Given the description of an element on the screen output the (x, y) to click on. 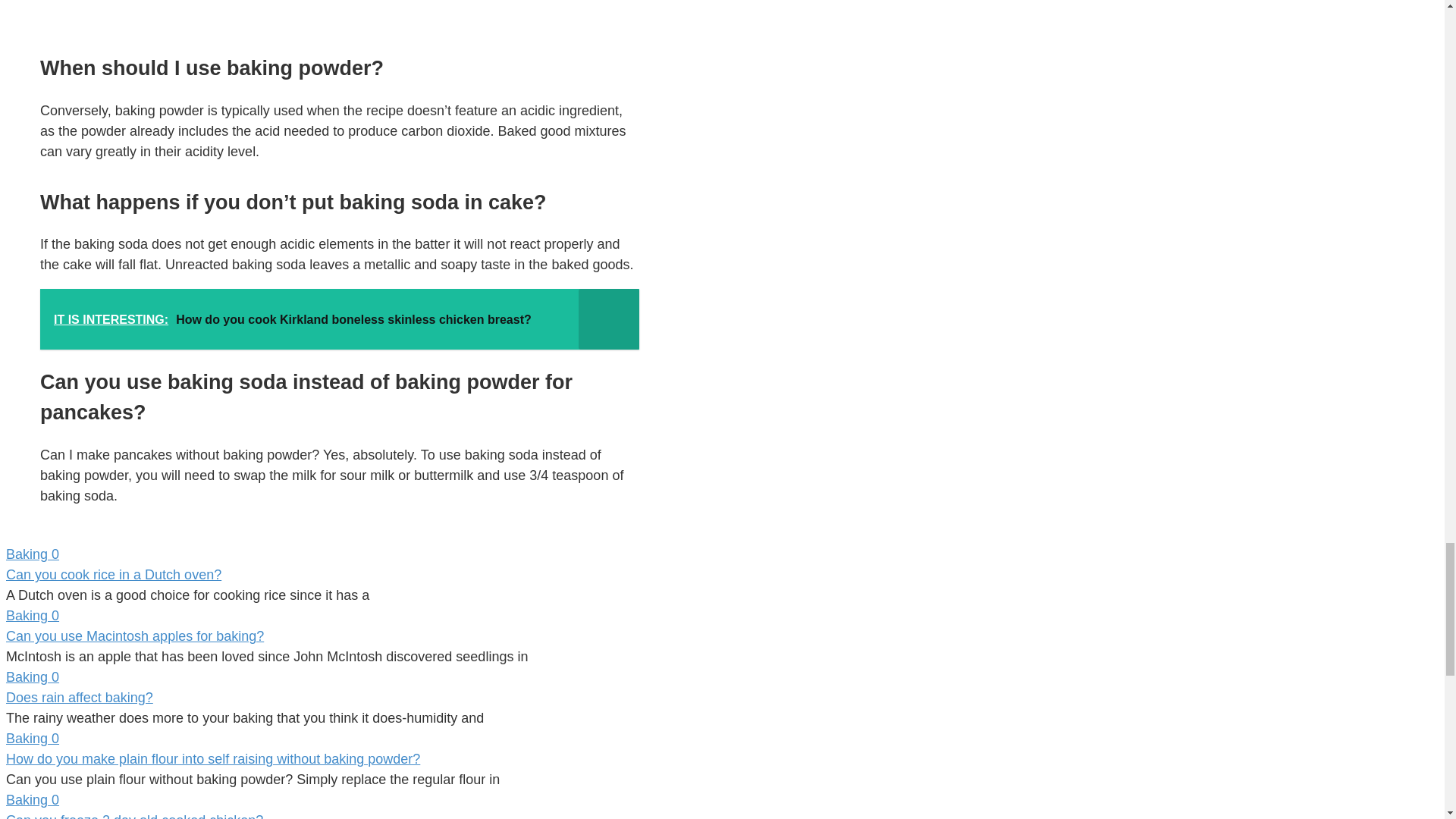
Can you freeze 2 day old cooked chicken? (134, 816)
Baking 0 (322, 800)
Comments (53, 799)
Comments (53, 554)
Can you use Macintosh apples for baking? (134, 635)
Comments (53, 738)
Baking 0 (322, 554)
Can you cook rice in a Dutch oven? (113, 574)
Comments (53, 615)
Baking 0 (322, 677)
Baking 0 (322, 738)
Baking 0 (322, 616)
Comments (53, 676)
